Given the description of an element on the screen output the (x, y) to click on. 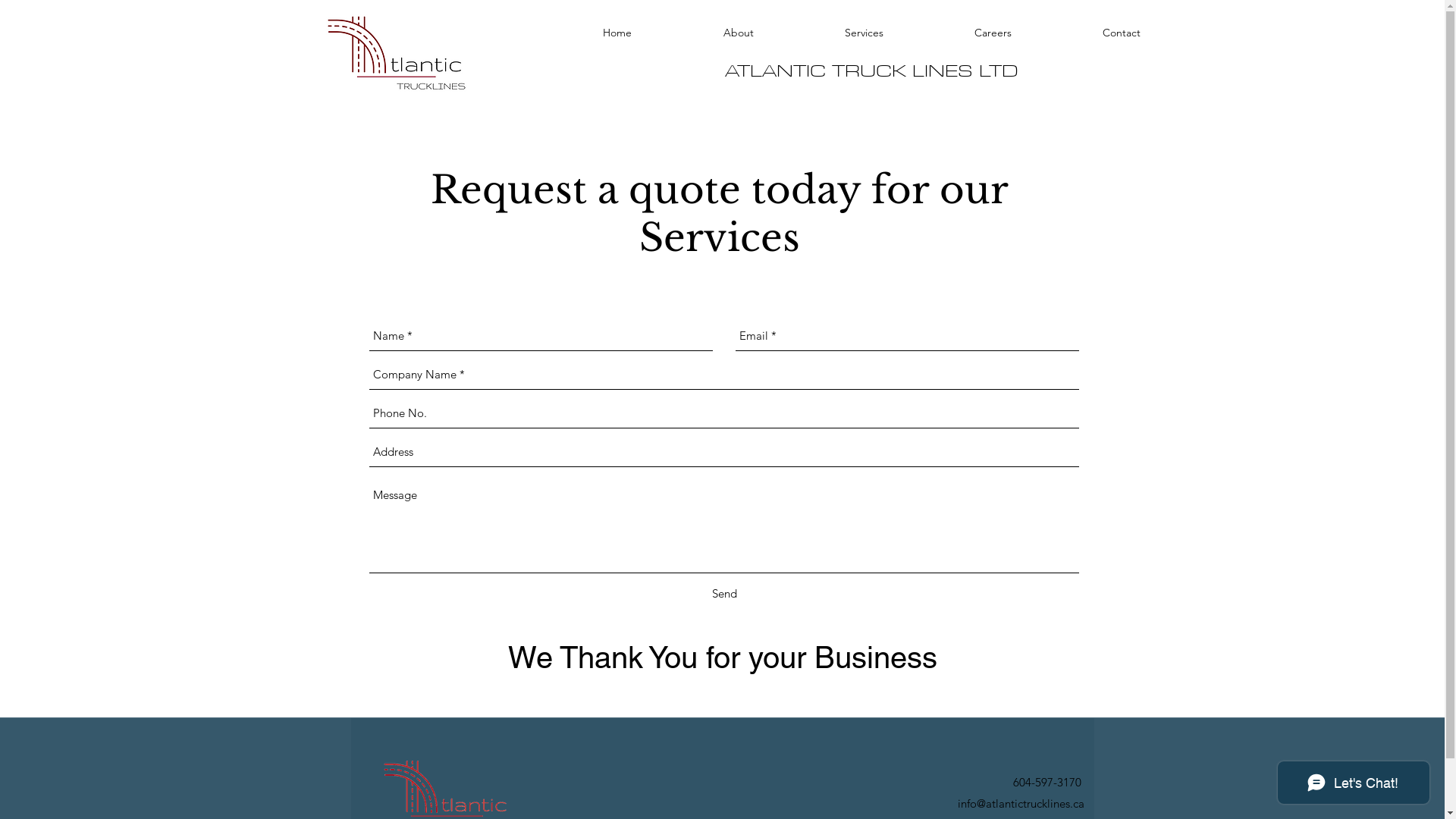
Contact Element type: text (1121, 32)
Send Element type: text (723, 593)
Careers Element type: text (992, 32)
info@atlantictrucklines.ca Element type: text (1020, 803)
About Element type: text (738, 32)
ATLANTIC TRUCK LINES LTD Element type: text (871, 71)
Services Element type: text (863, 32)
Home Element type: text (616, 32)
